Given the description of an element on the screen output the (x, y) to click on. 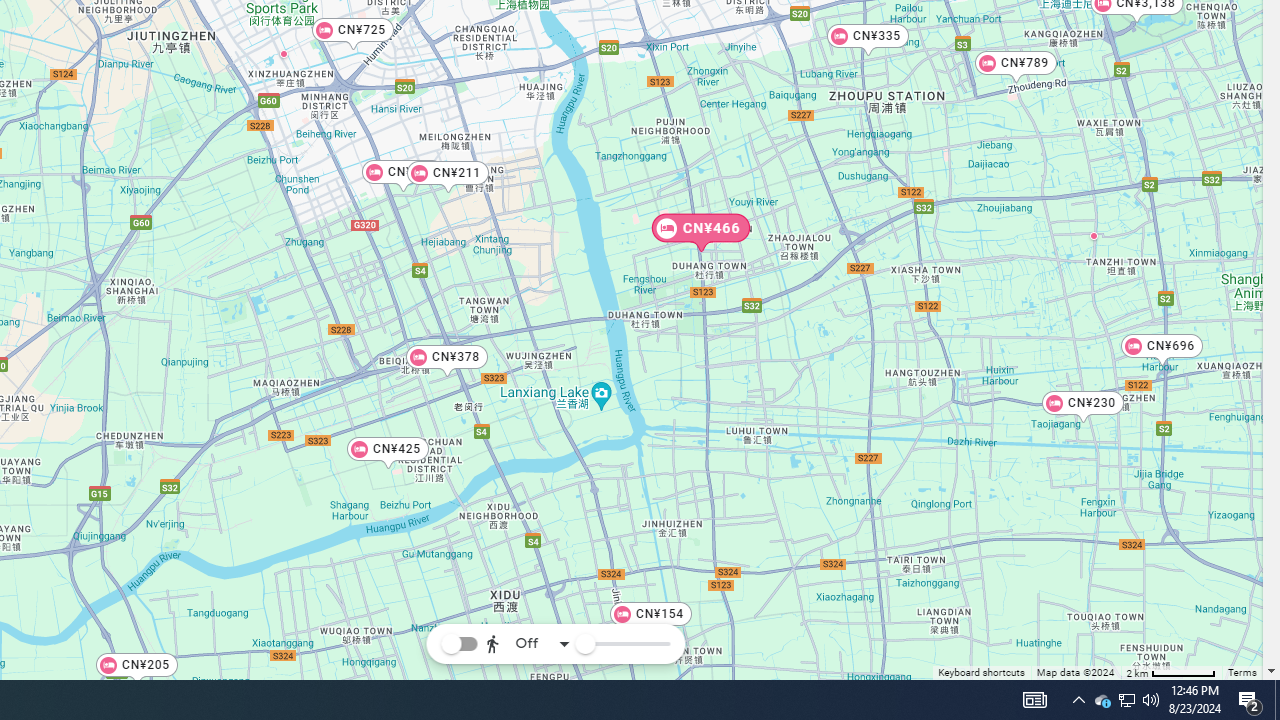
Drive (523, 588)
Map Scale: 2 km per 61 pixels (1171, 672)
Toggle reachability layer (459, 643)
Off (527, 643)
